Given the description of an element on the screen output the (x, y) to click on. 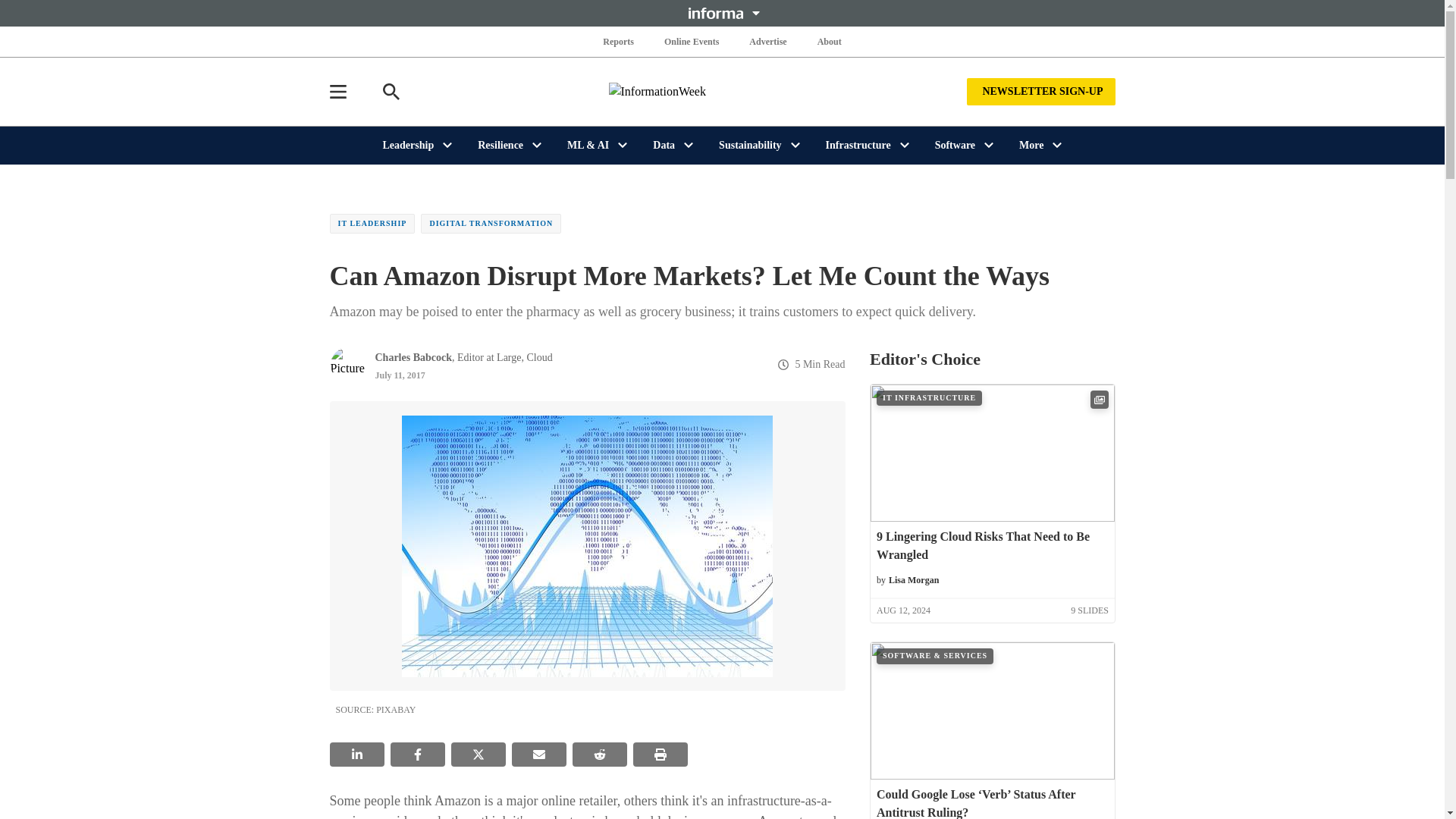
About (828, 41)
InformationWeek (721, 91)
Advertise (767, 41)
Picture of Charles Babcock (347, 364)
Online Events (691, 41)
Reports (618, 41)
NEWSLETTER SIGN-UP (1040, 90)
